Given the description of an element on the screen output the (x, y) to click on. 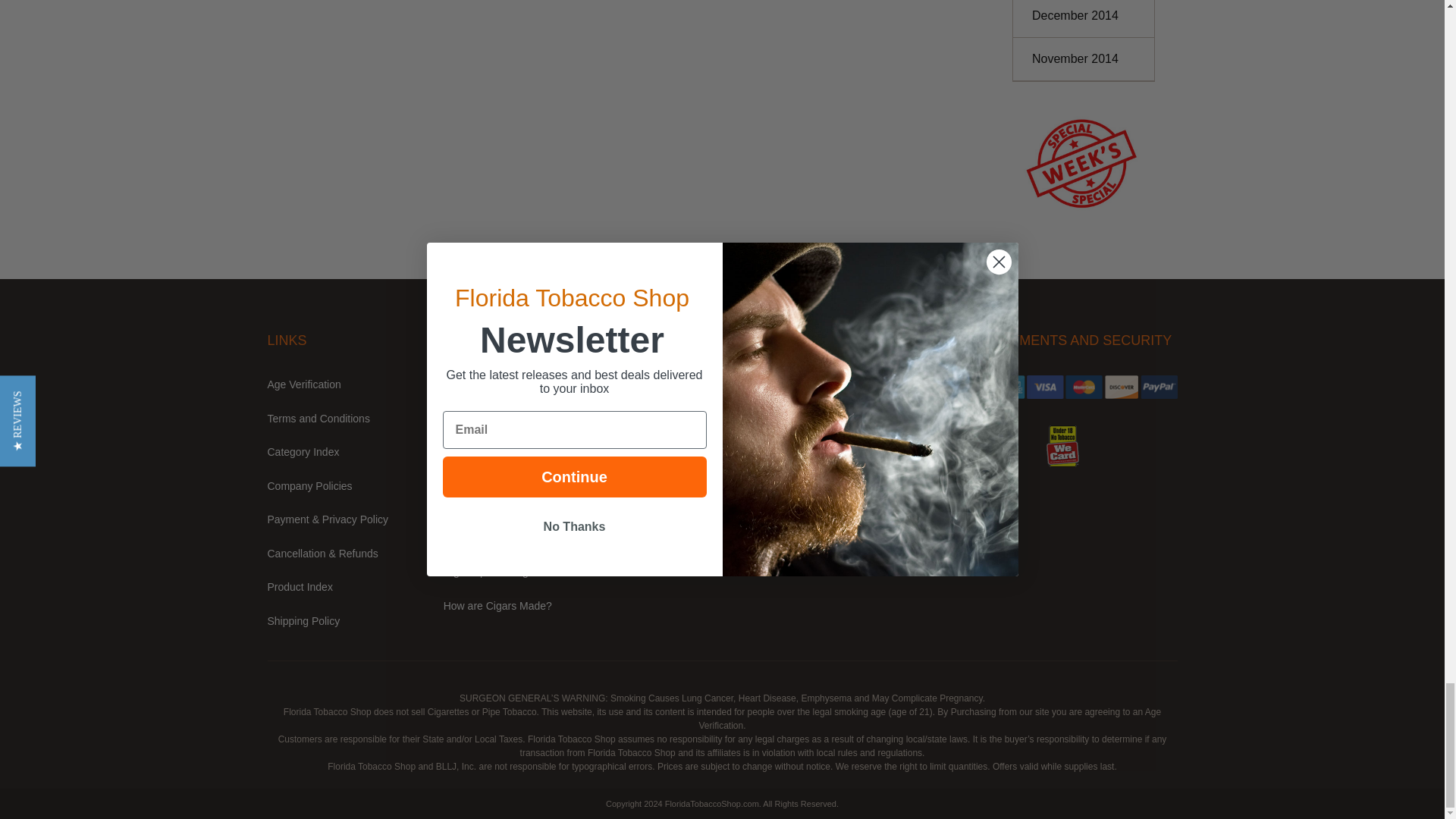
Subscribe to our Blog (941, 383)
Like Us on Facebook (809, 383)
Follow Us on Pinterest (889, 383)
Follow Us on Twitter (836, 383)
Follow Us on Instagram (915, 383)
Subscribe to our Channel (863, 383)
